Given the description of an element on the screen output the (x, y) to click on. 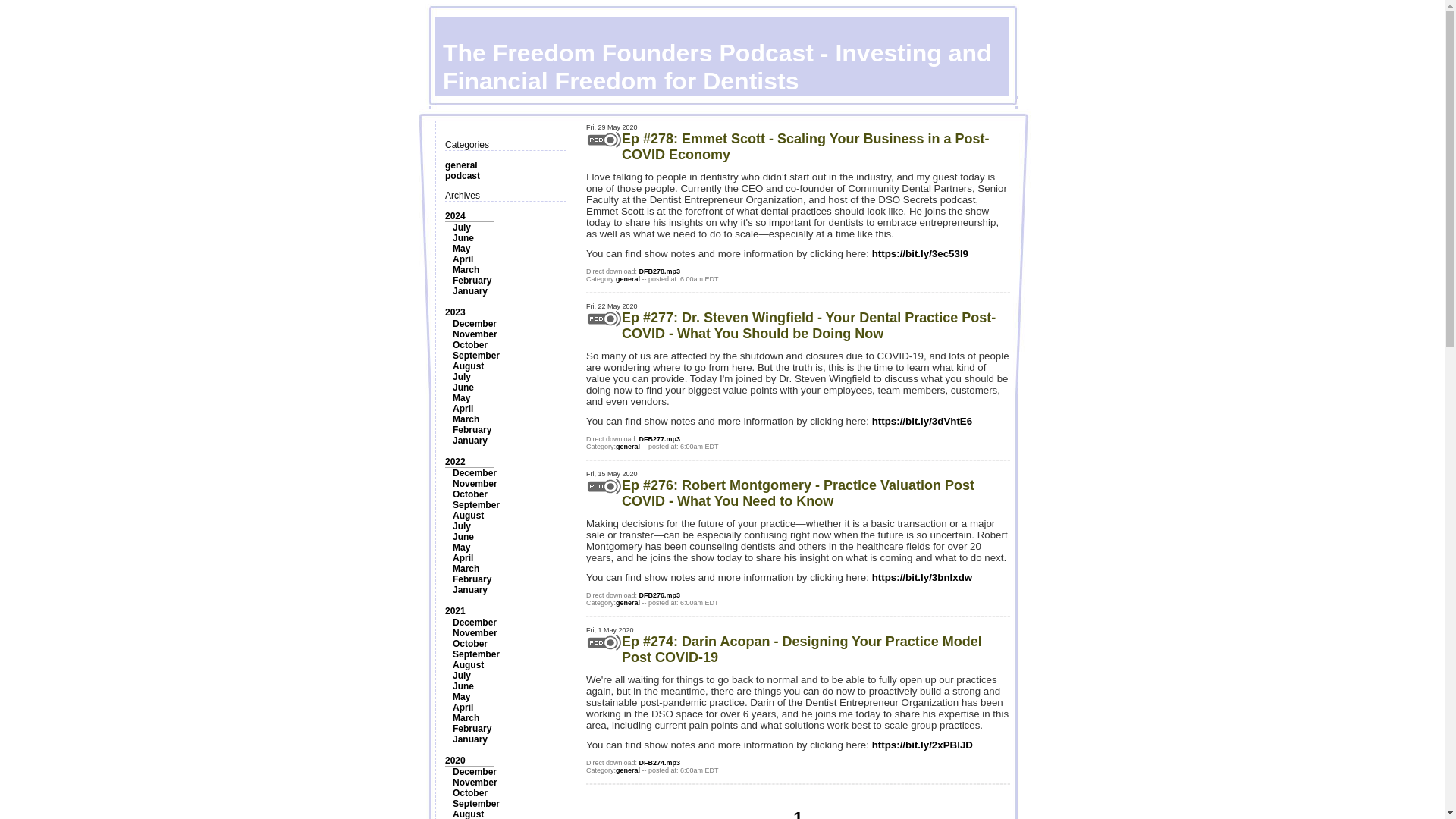
November (474, 633)
December (474, 323)
January (469, 439)
April (462, 258)
August (467, 515)
March (465, 419)
May (461, 248)
June (463, 536)
July (461, 226)
May (461, 398)
December (474, 472)
January (469, 589)
September (475, 504)
2022 (455, 461)
November (474, 483)
